Given the description of an element on the screen output the (x, y) to click on. 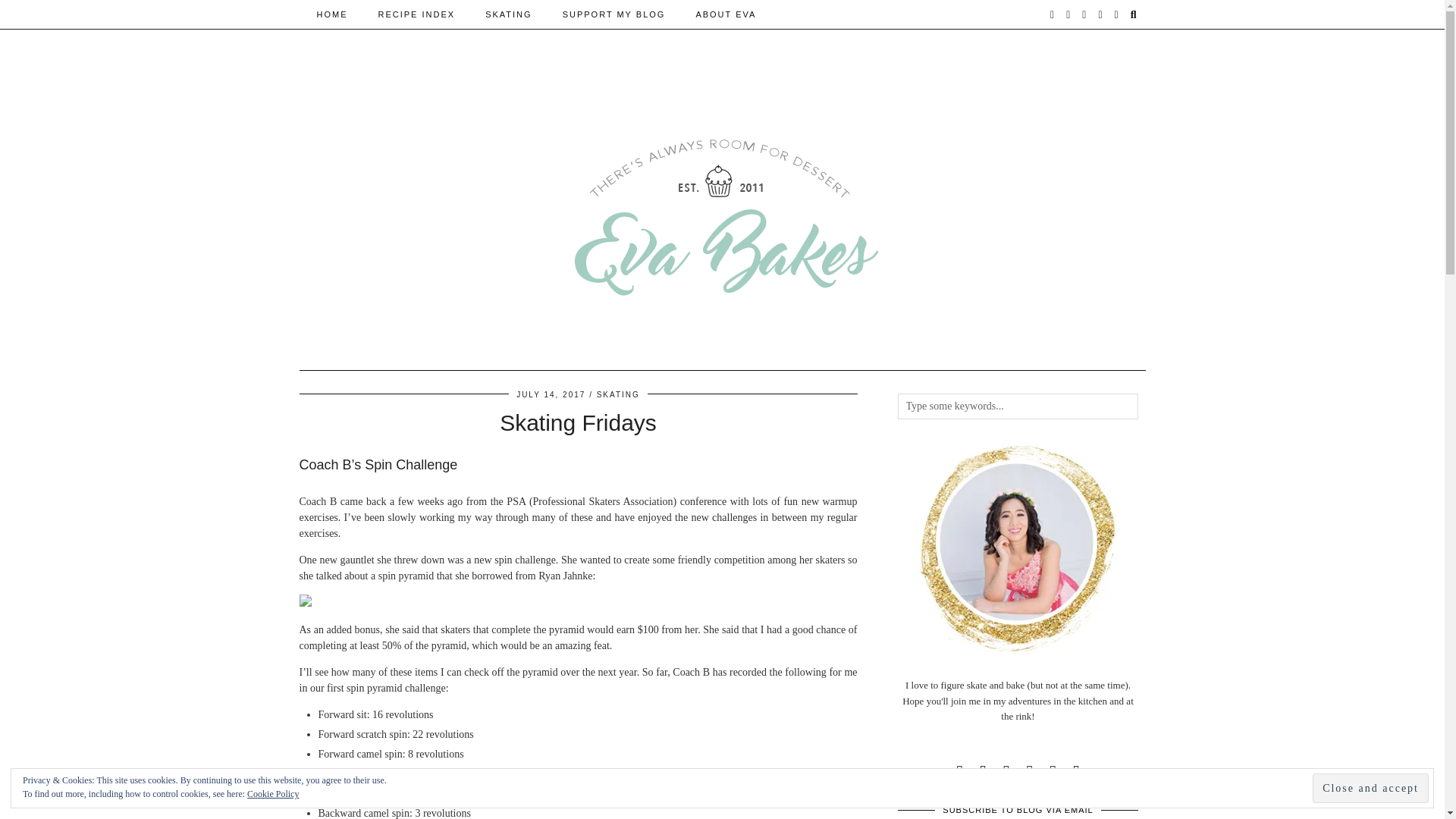
Close and accept (1370, 788)
